Given the description of an element on the screen output the (x, y) to click on. 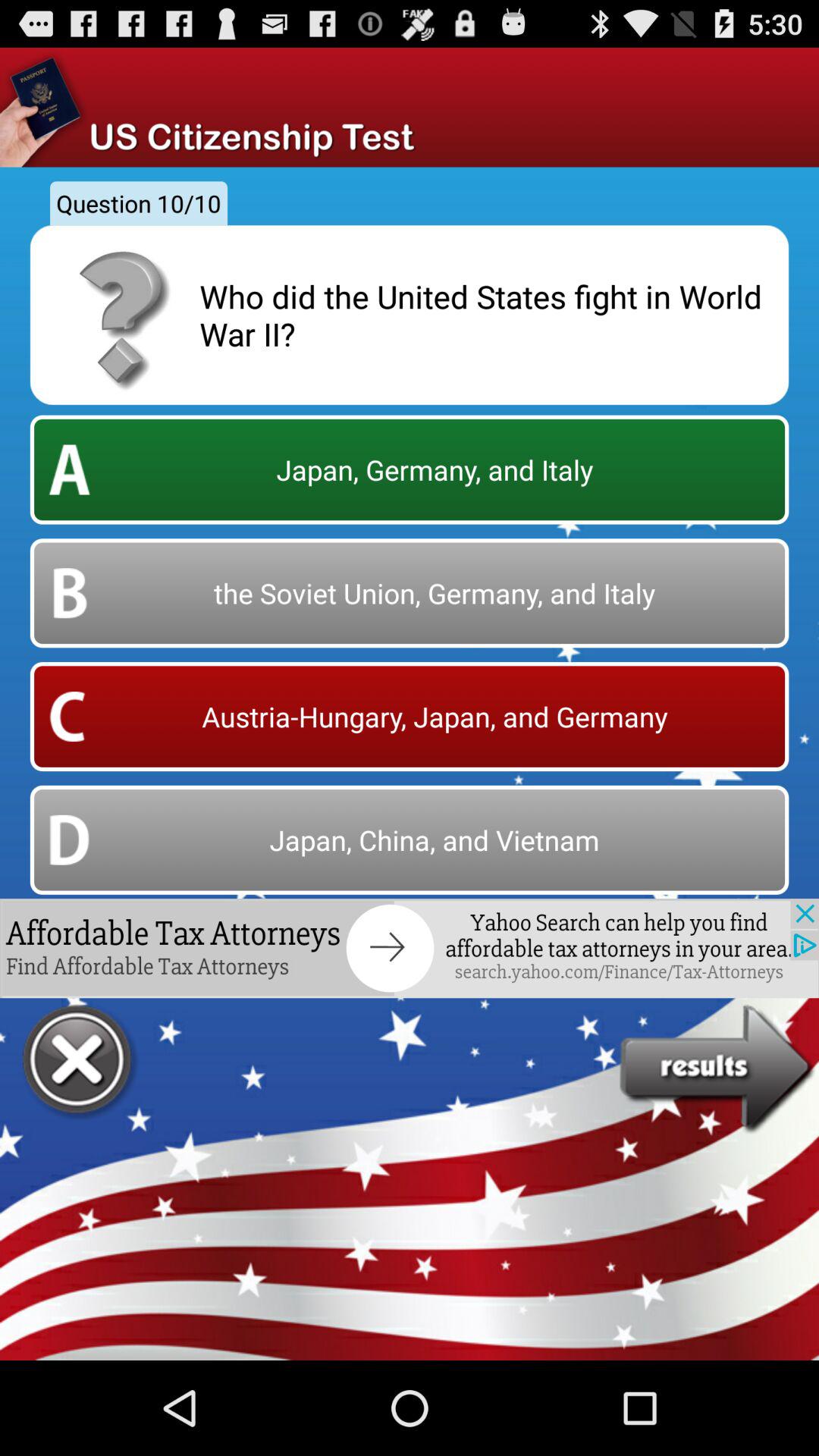
result button (719, 1069)
